Given the description of an element on the screen output the (x, y) to click on. 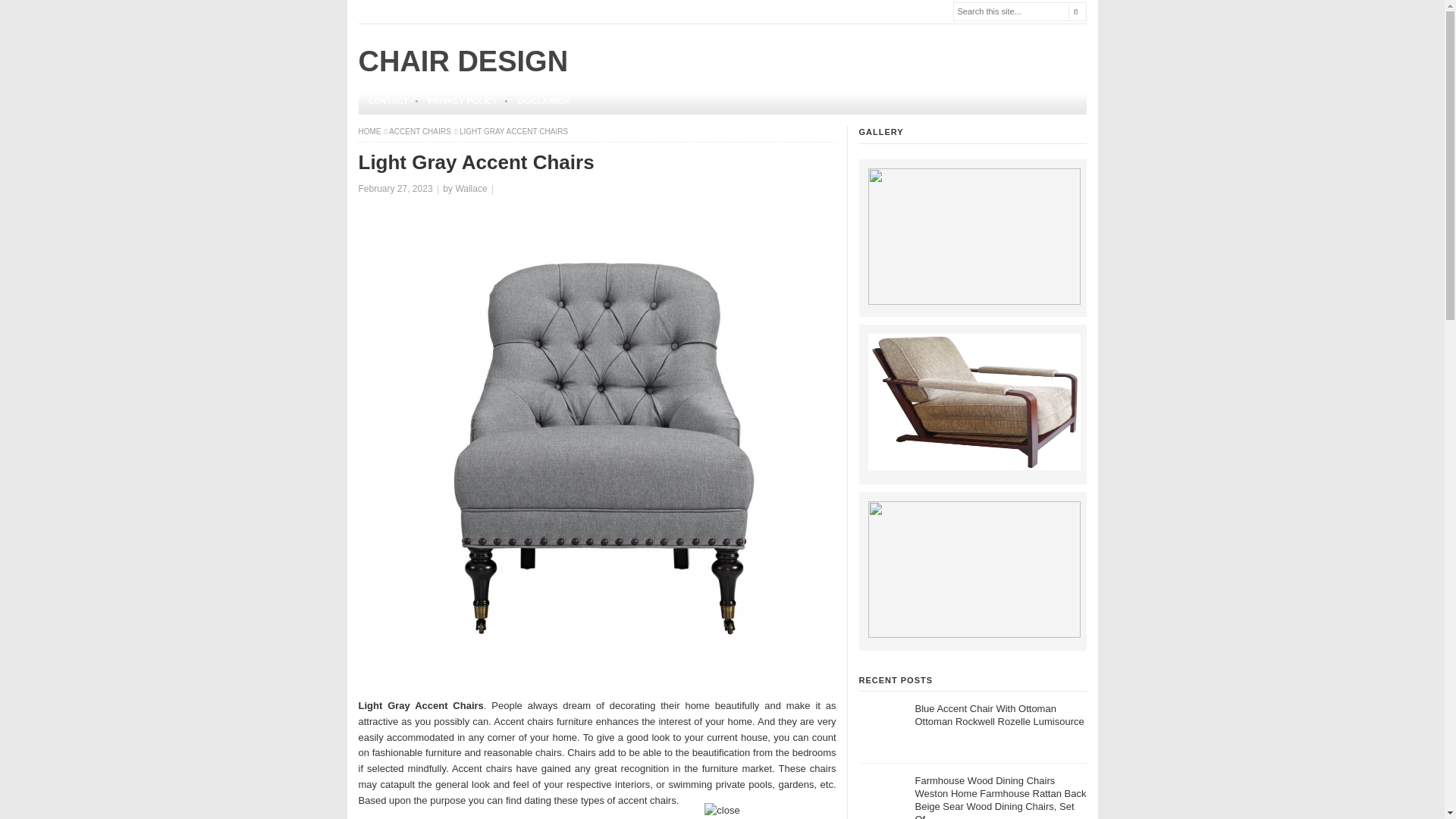
CHAIR DESIGN (462, 61)
ACCENT CHAIRS (420, 131)
Chair Design (369, 131)
Wallace (470, 188)
close button (721, 811)
DISCLAIMER (542, 100)
HOME (369, 131)
CONTACT (387, 100)
PRIVACY POLICY (461, 100)
